Given the description of an element on the screen output the (x, y) to click on. 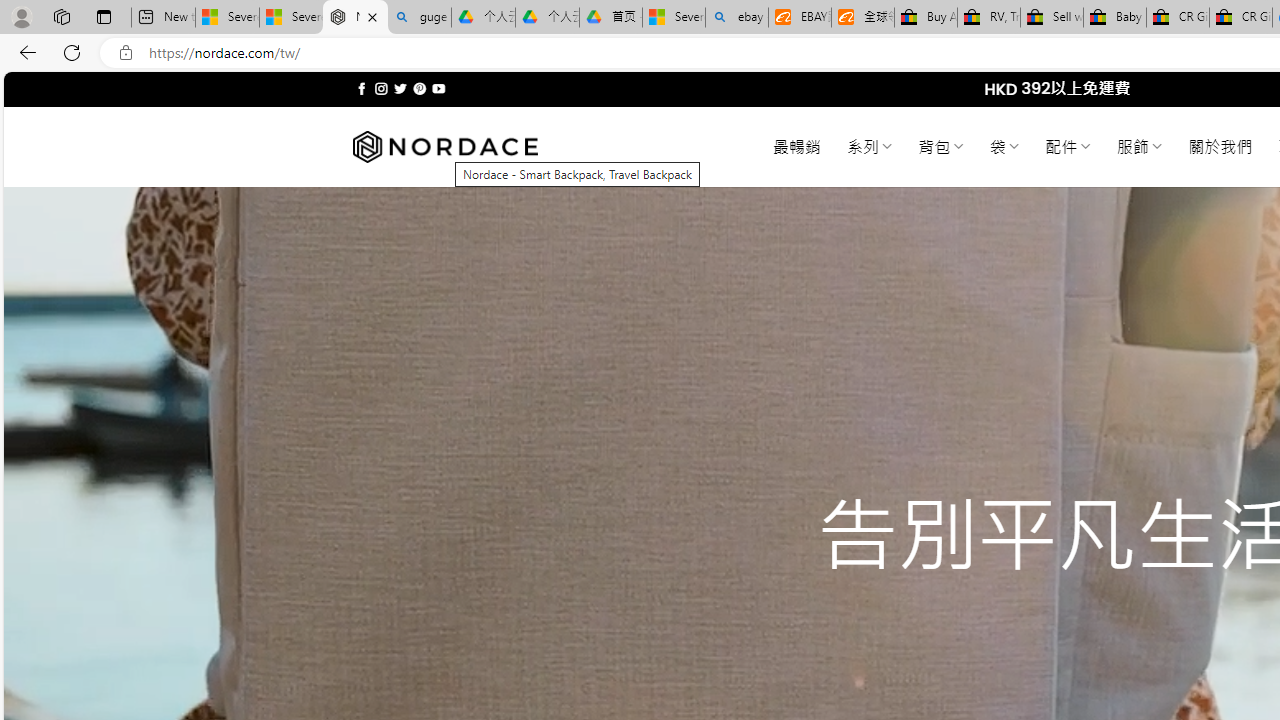
Follow on YouTube (438, 88)
